Given the description of an element on the screen output the (x, y) to click on. 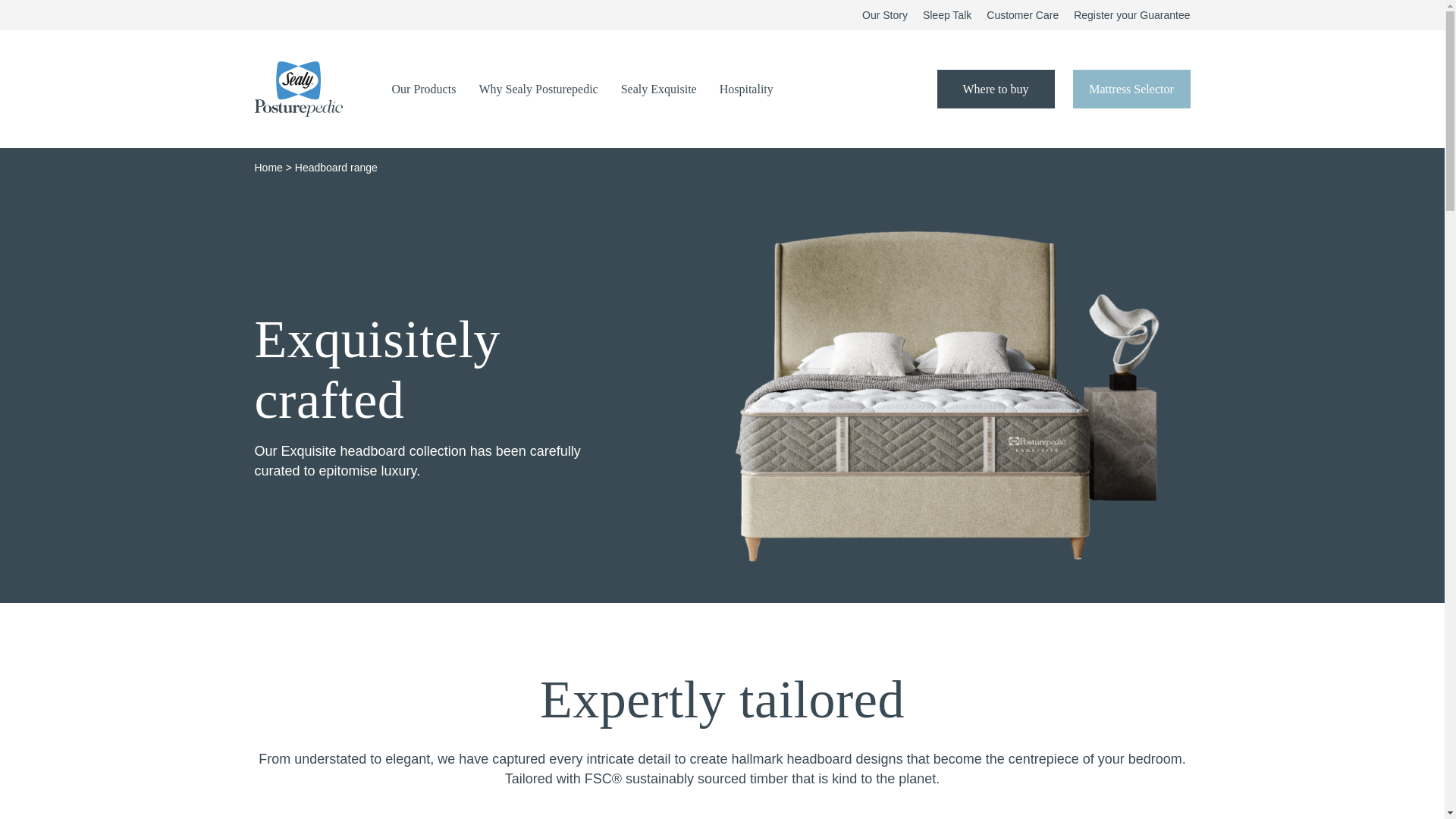
Customer Care (1022, 15)
Sleep Talk (947, 15)
Our Story (884, 15)
Why Sealy Posturepedic (537, 89)
Register your Guarantee (1131, 15)
